Given the description of an element on the screen output the (x, y) to click on. 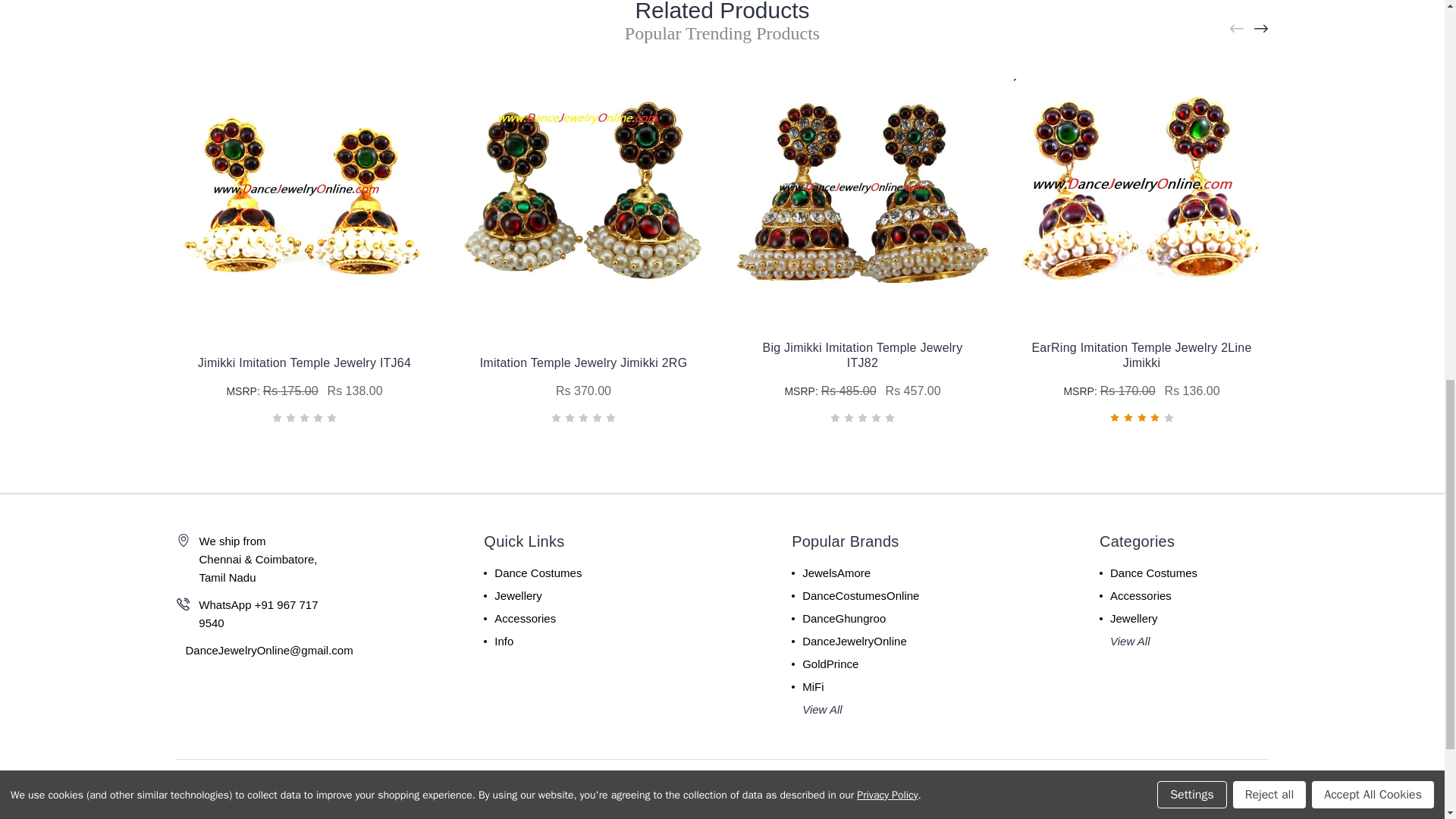
EarRing Imitation Temple Jewelry 2Line Jimikki (1141, 192)
submit (890, 817)
Jimikki Imitation Temple Jewelry ITJ64 (304, 193)
Big Jimikki Imitation Temple Jewelry ITJ82 (861, 192)
Dance Jewellery Earring (582, 192)
